Given the description of an element on the screen output the (x, y) to click on. 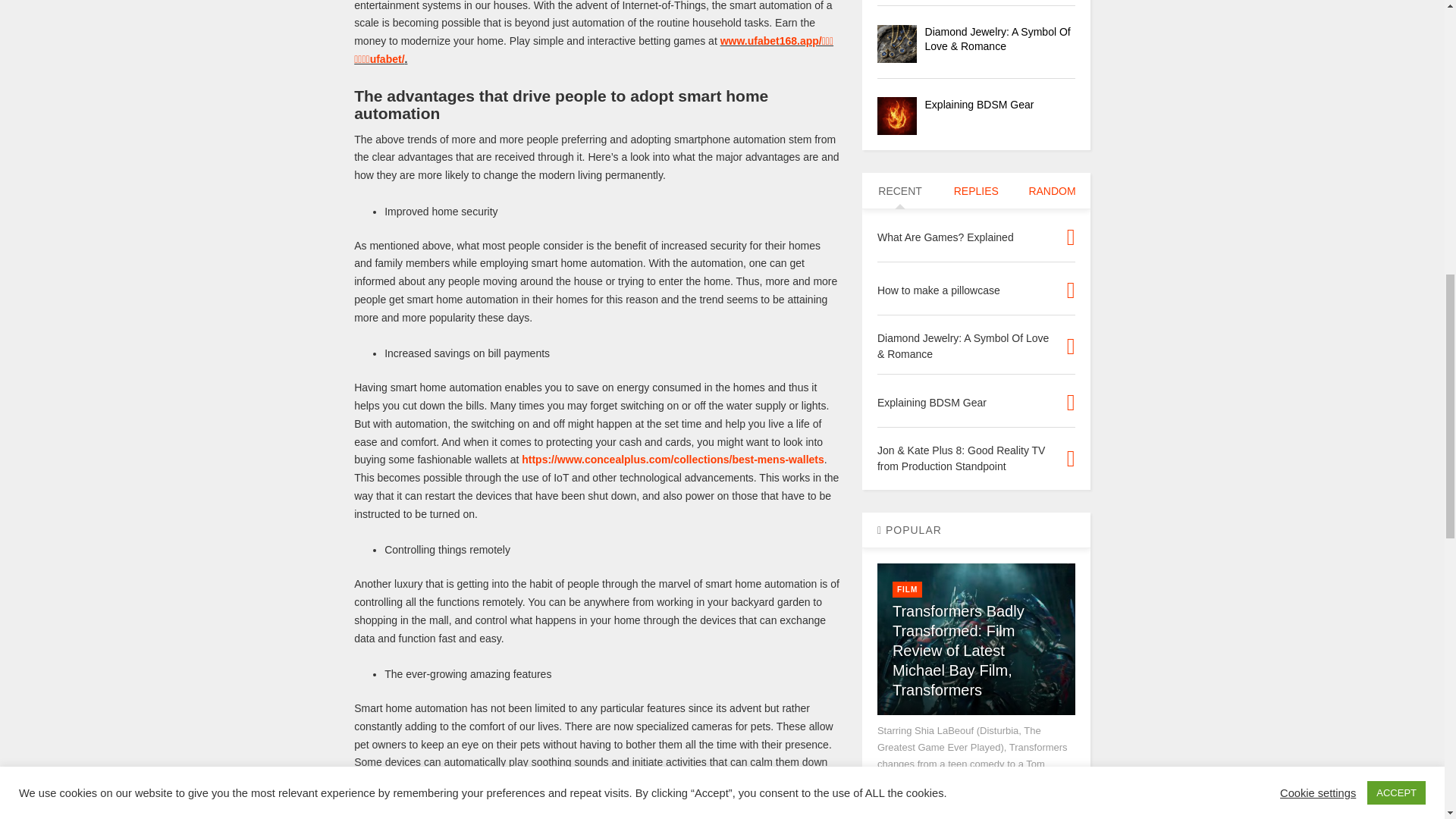
Explaining BDSM Gear (897, 115)
